Given the description of an element on the screen output the (x, y) to click on. 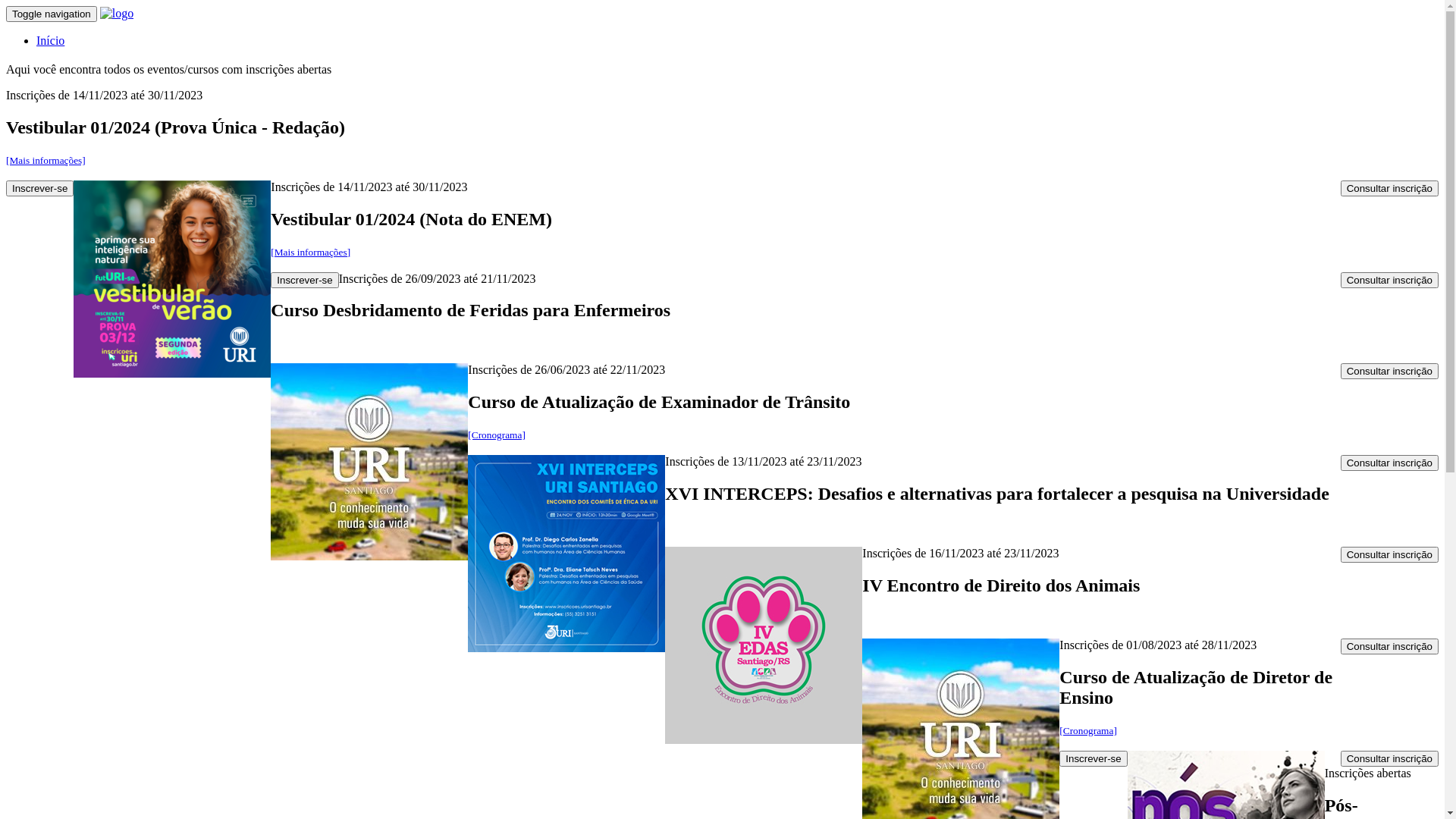
Inscrever-se Element type: text (1092, 758)
[Cronograma] Element type: text (496, 434)
Inscrever-se Element type: text (304, 280)
[Cronograma] Element type: text (1088, 730)
Inscrever-se Element type: text (39, 188)
Toggle navigation Element type: text (51, 13)
